Given the description of an element on the screen output the (x, y) to click on. 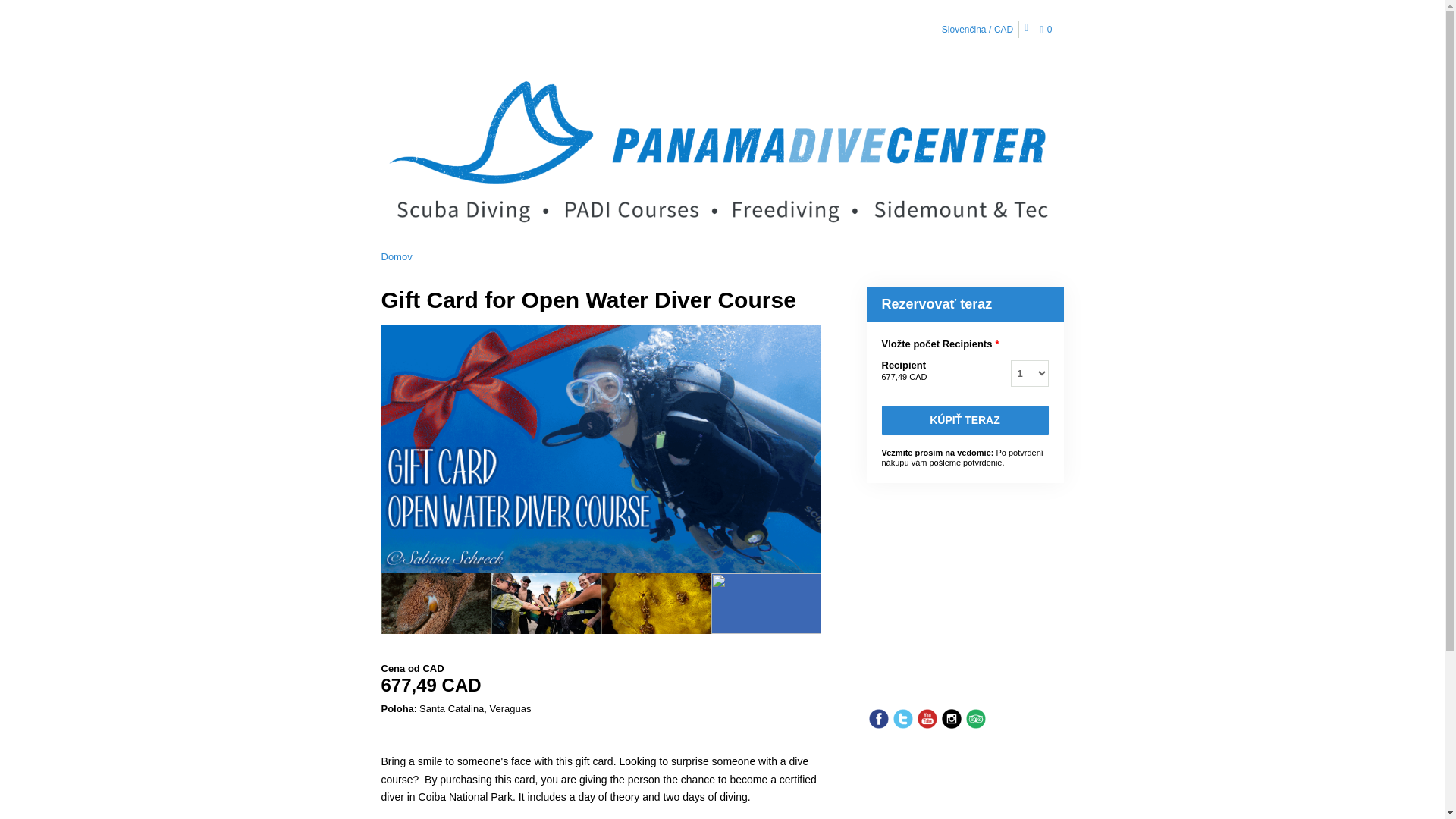
Estimated conversion from 495 (600, 685)
0 (1047, 30)
Estimated conversion from 495 (903, 376)
